Given the description of an element on the screen output the (x, y) to click on. 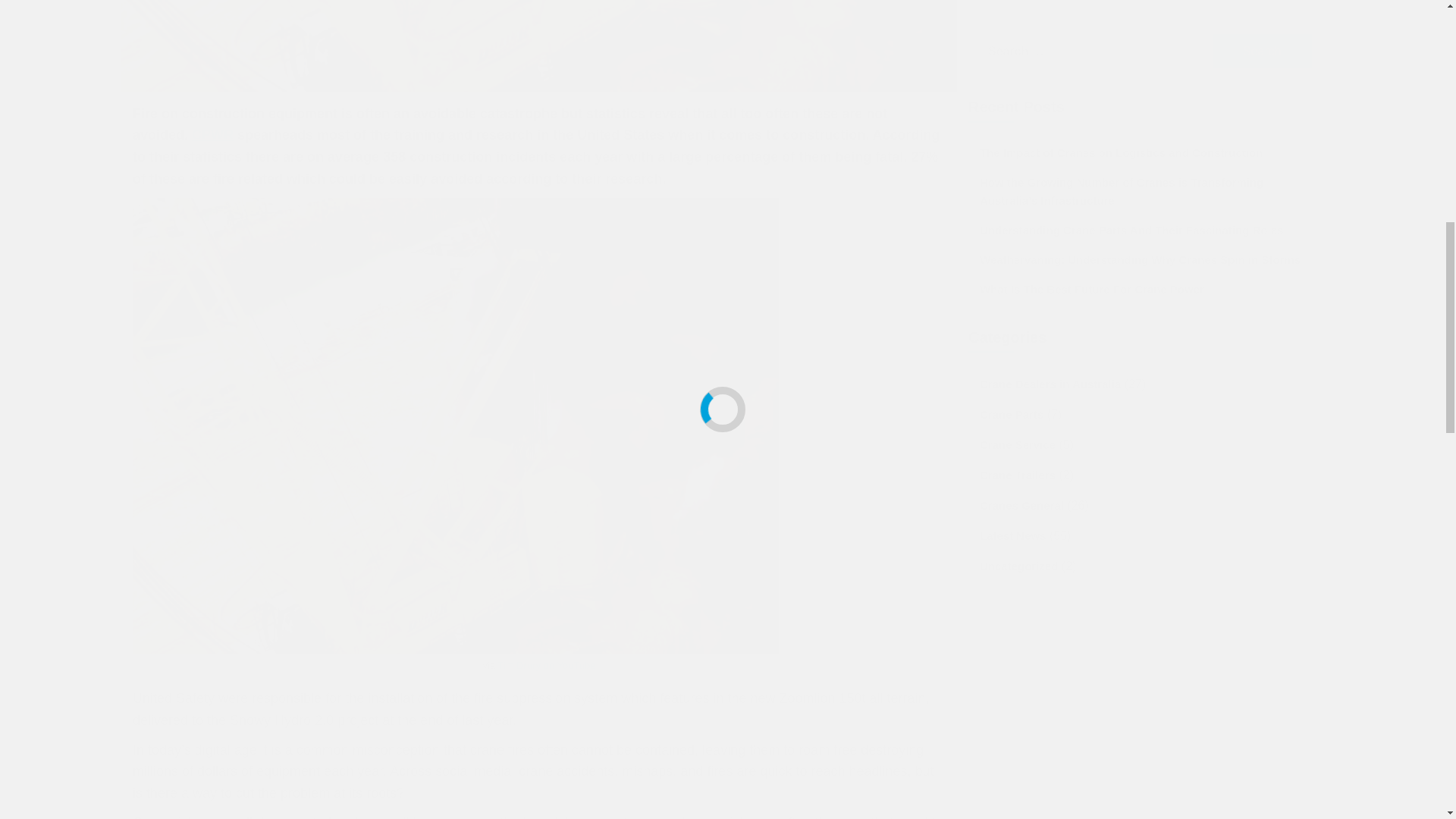
CPWR (212, 134)
CPWR (212, 134)
Tim Drury on YouTube (546, 665)
Tim Drury on YouTube (546, 665)
